Given the description of an element on the screen output the (x, y) to click on. 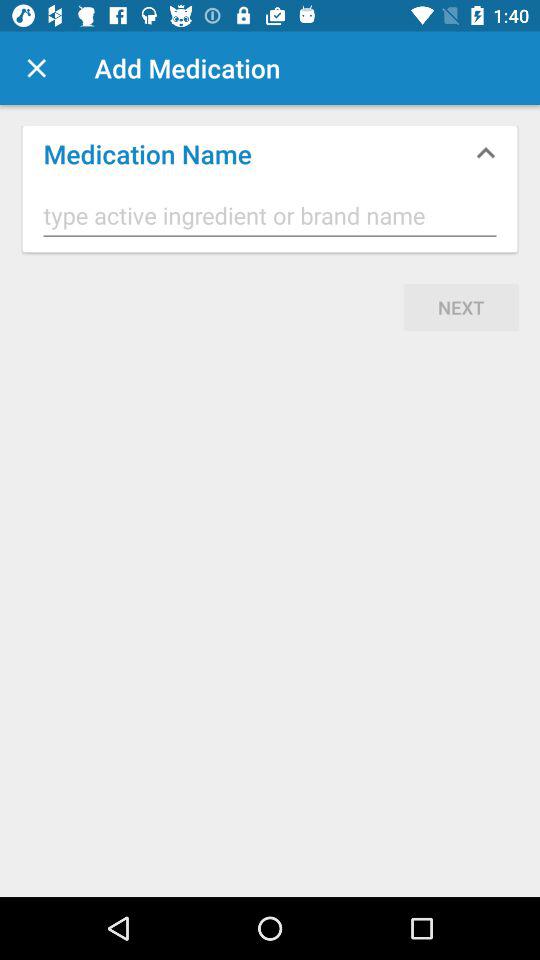
select item next to add medication item (36, 68)
